Given the description of an element on the screen output the (x, y) to click on. 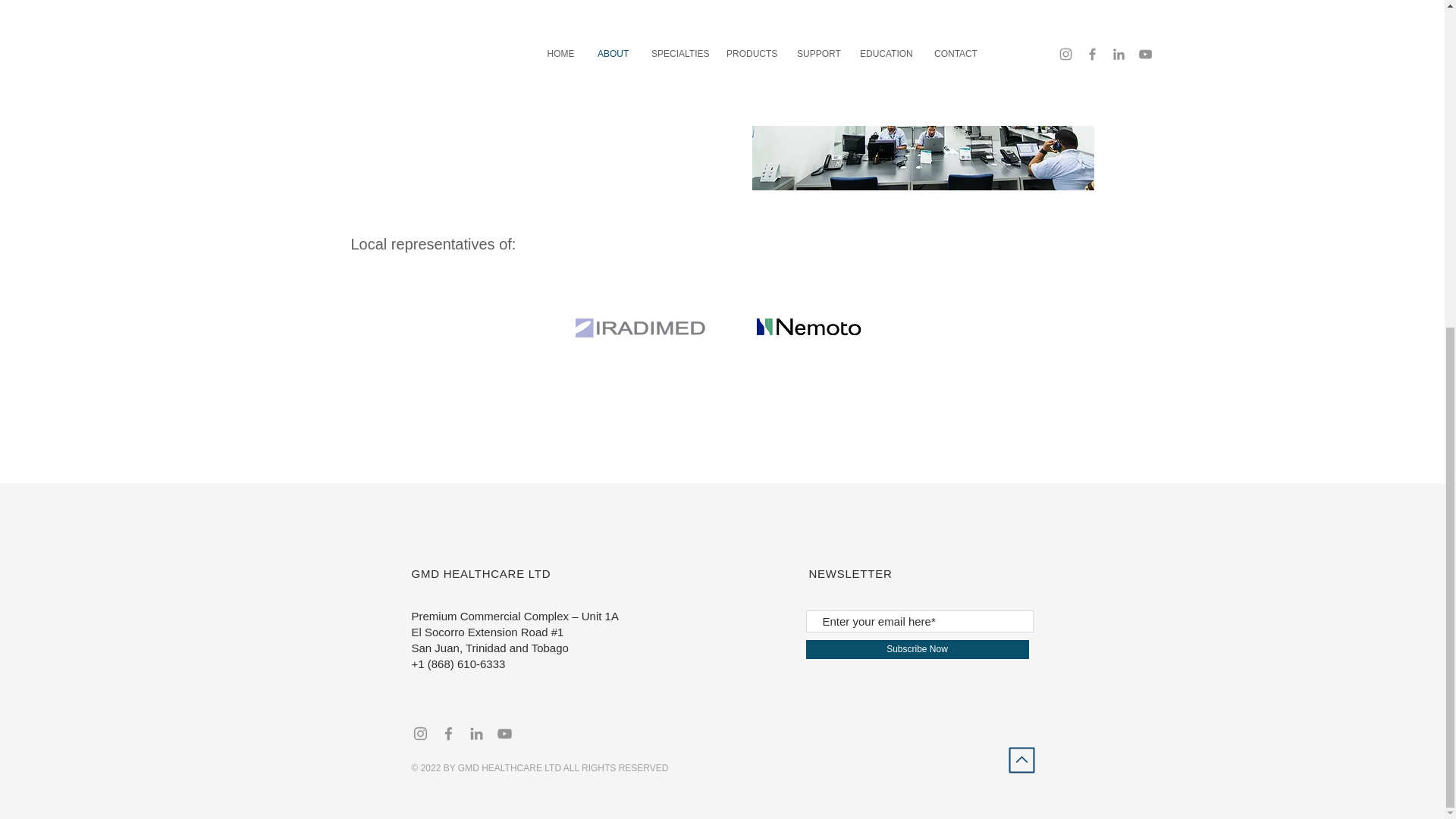
Subscribe Now (916, 649)
